Given the description of an element on the screen output the (x, y) to click on. 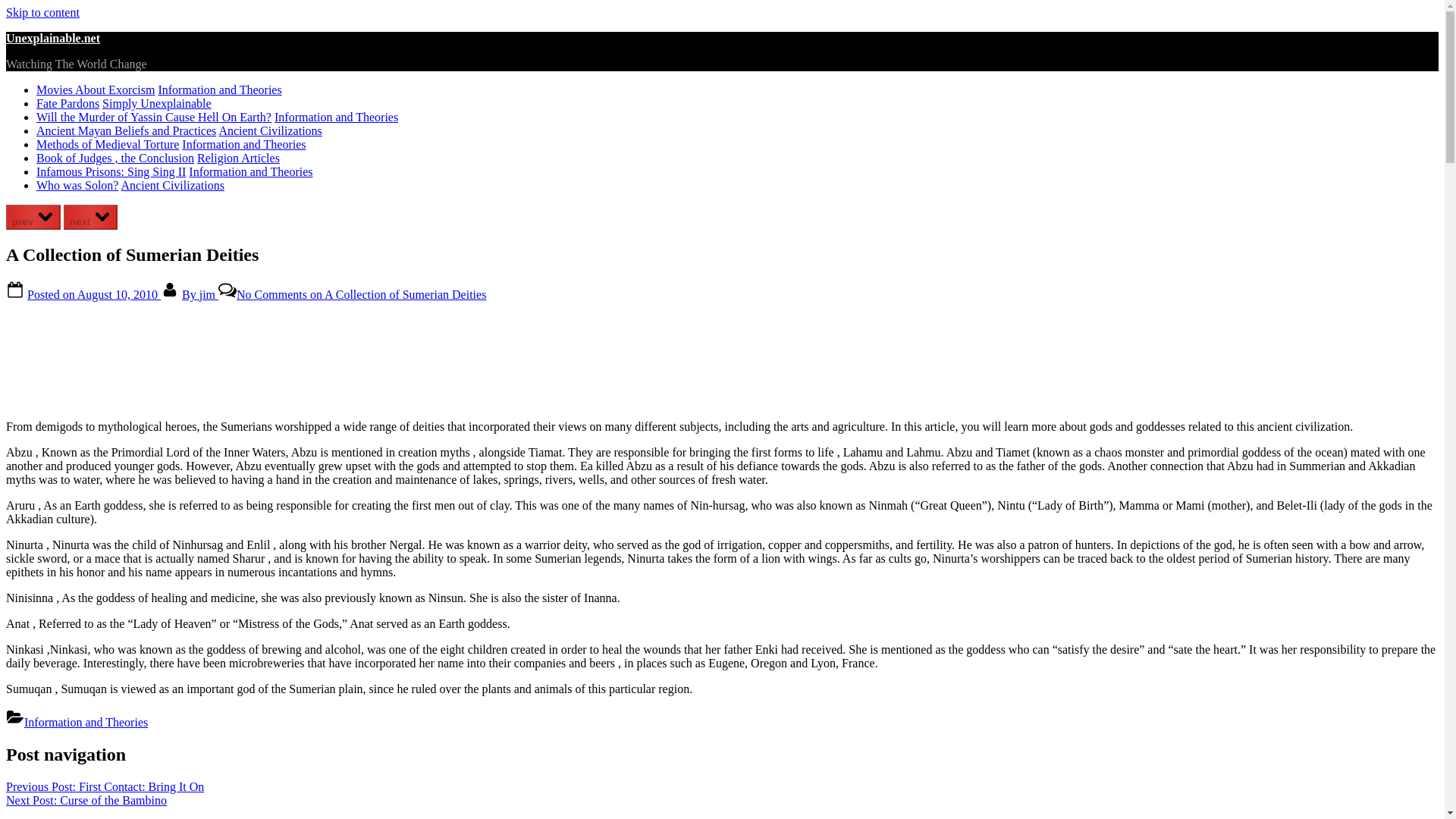
Next Post: Curse of the Bambino (86, 799)
Infamous Prisons: Sing Sing II (111, 171)
Fate Pardons (67, 103)
Information and Theories (86, 721)
Previous Post: First Contact: Bring It On (104, 786)
Ancient Mayan Beliefs and Practices (125, 130)
Information and Theories (243, 144)
Movies About Exorcism (95, 89)
Simply Unexplainable (156, 103)
Will the Murder of Yassin Cause Hell On Earth? (153, 116)
Information and Theories (219, 89)
By jim (200, 294)
Information and Theories (336, 116)
Religion Articles (237, 157)
Posted on August 10, 2010 (93, 294)
